Given the description of an element on the screen output the (x, y) to click on. 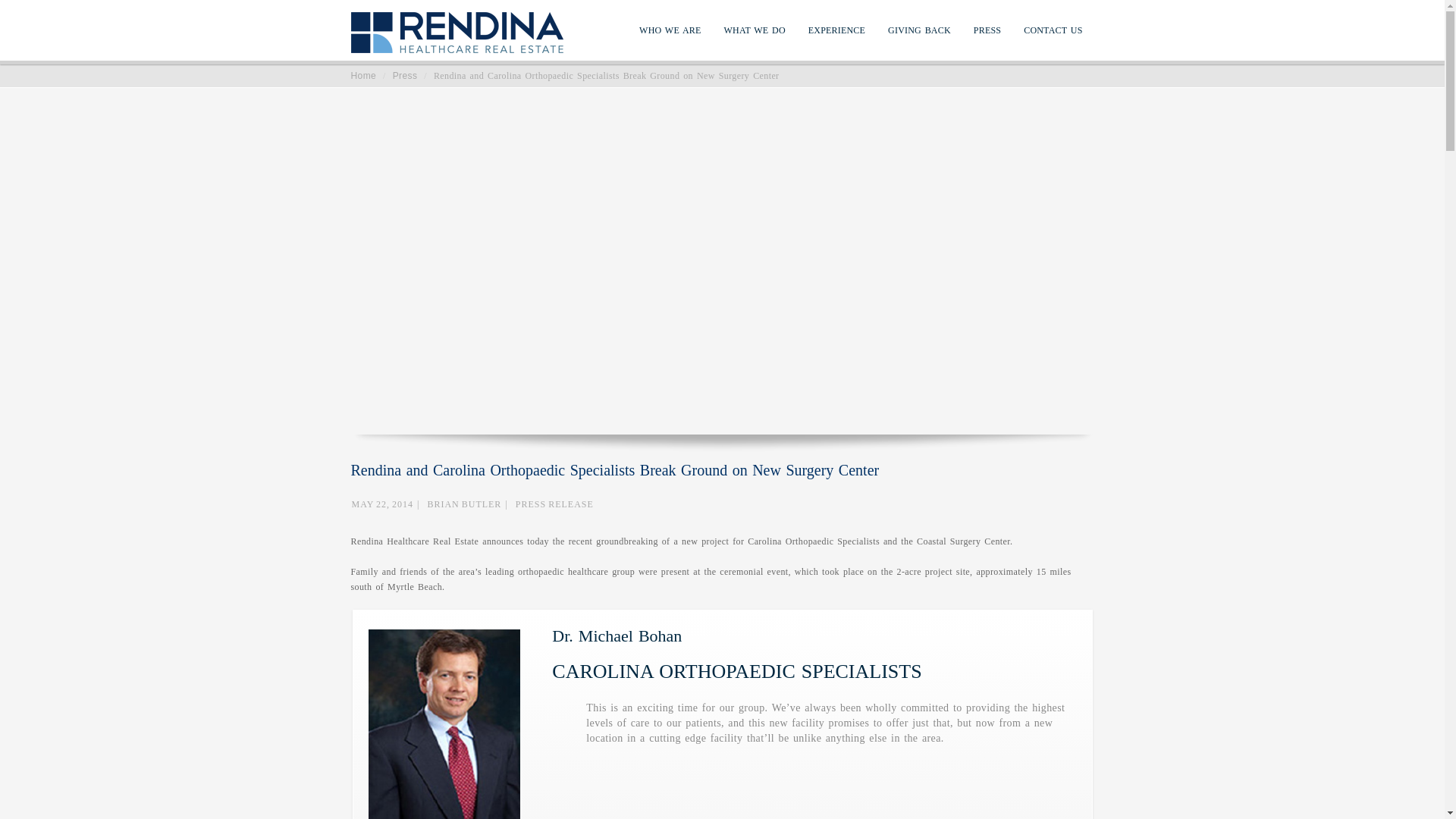
BRIAN BUTLER (463, 503)
PRESS (986, 37)
GIVING BACK (919, 37)
Thursday, May 22nd, 2014, 8:30 am (382, 503)
Press (405, 75)
Home (362, 75)
WHAT WE DO (754, 37)
PRESS RELEASE (554, 503)
MAY 22, 2014 (382, 503)
EXPERIENCE (837, 37)
WHO WE ARE (669, 37)
CONTACT US (1053, 37)
Press (405, 75)
